Given the description of an element on the screen output the (x, y) to click on. 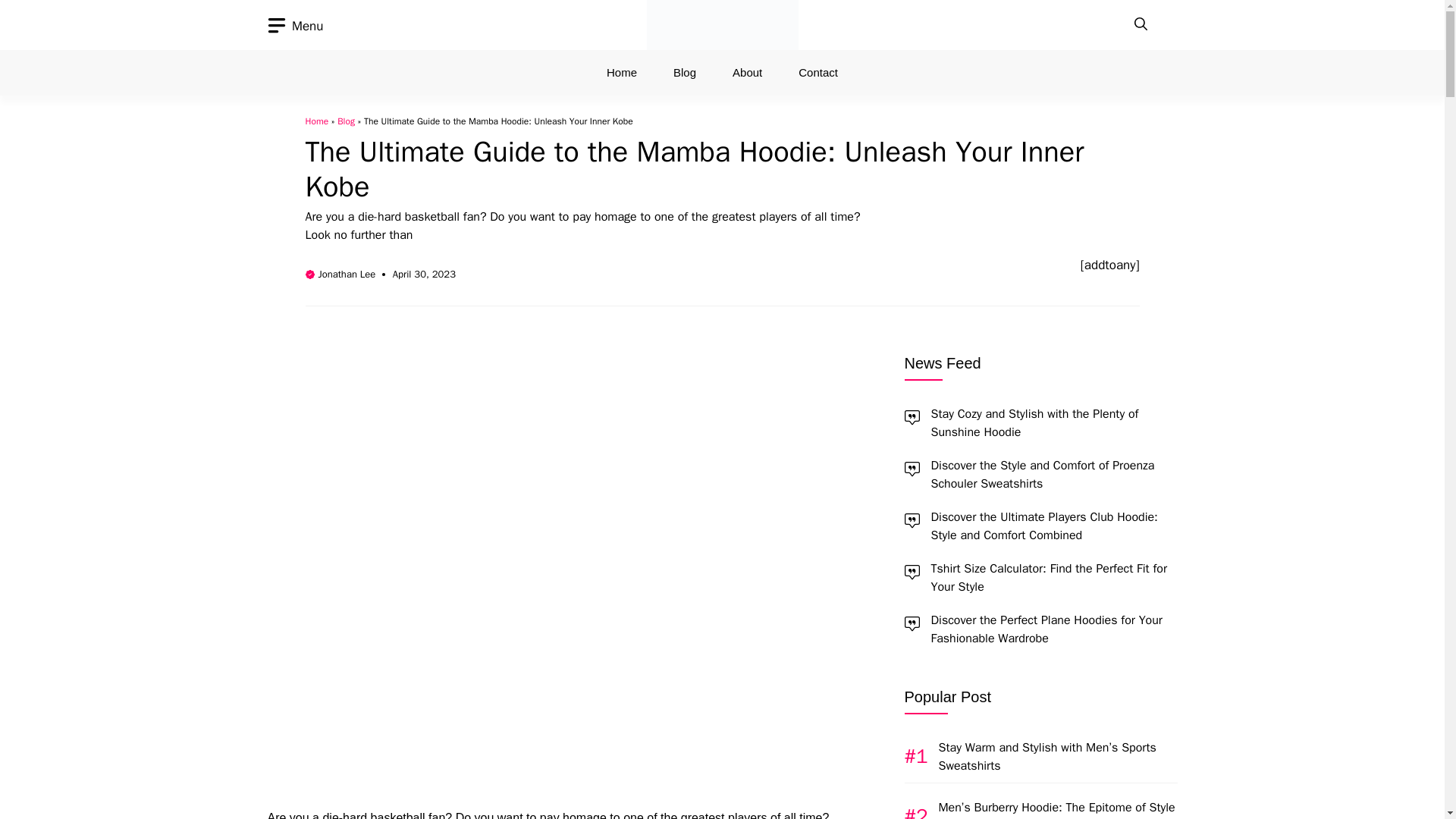
Home (316, 121)
About (747, 72)
Home (621, 72)
Advertisement (543, 695)
Blog (346, 121)
Advertisement (543, 458)
Jonathan Lee (346, 273)
Blog (684, 72)
Menu (294, 26)
Contact (818, 72)
